Given the description of an element on the screen output the (x, y) to click on. 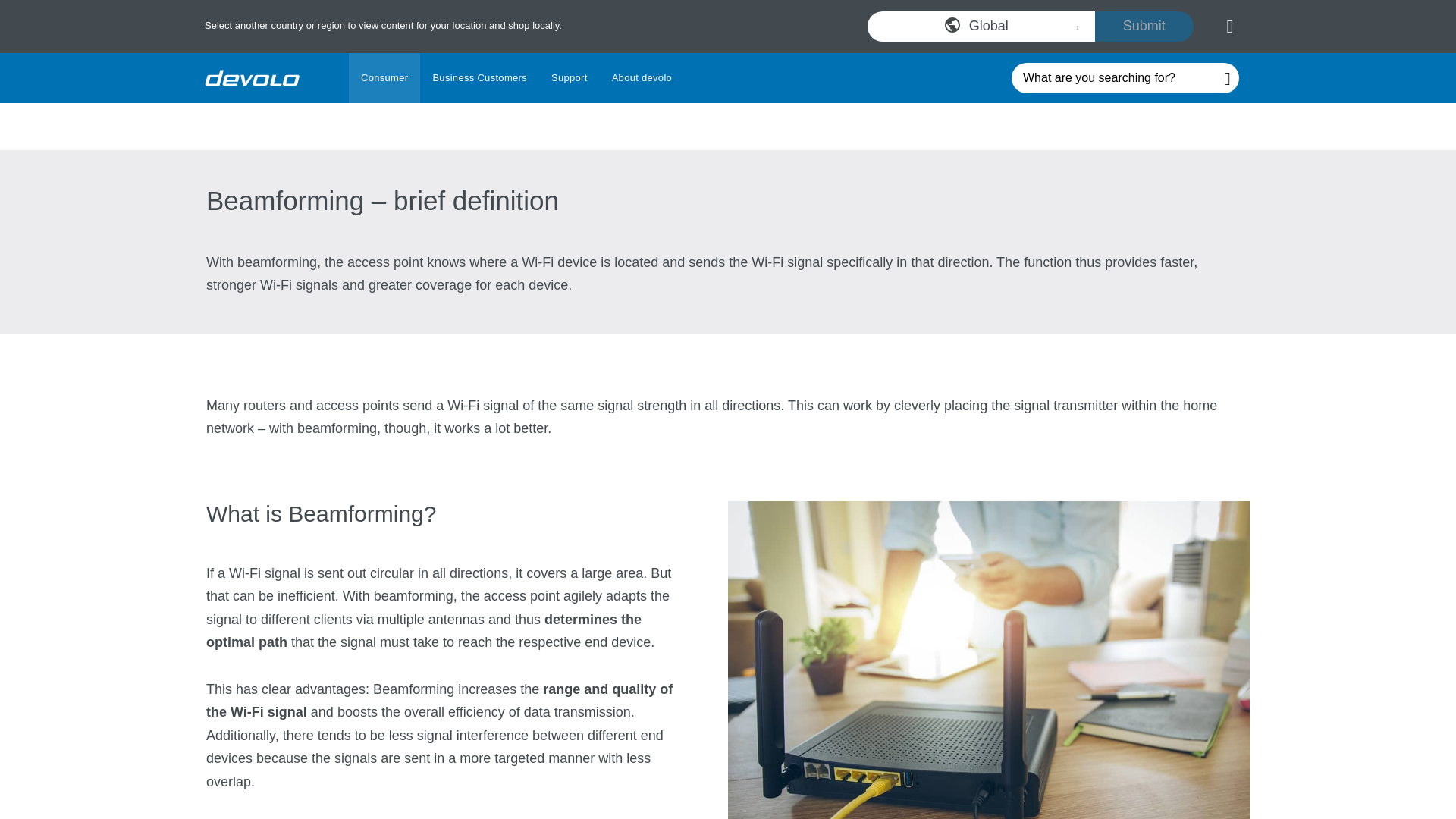
Global (727, 78)
devolo (981, 25)
Submit (252, 77)
